Given the description of an element on the screen output the (x, y) to click on. 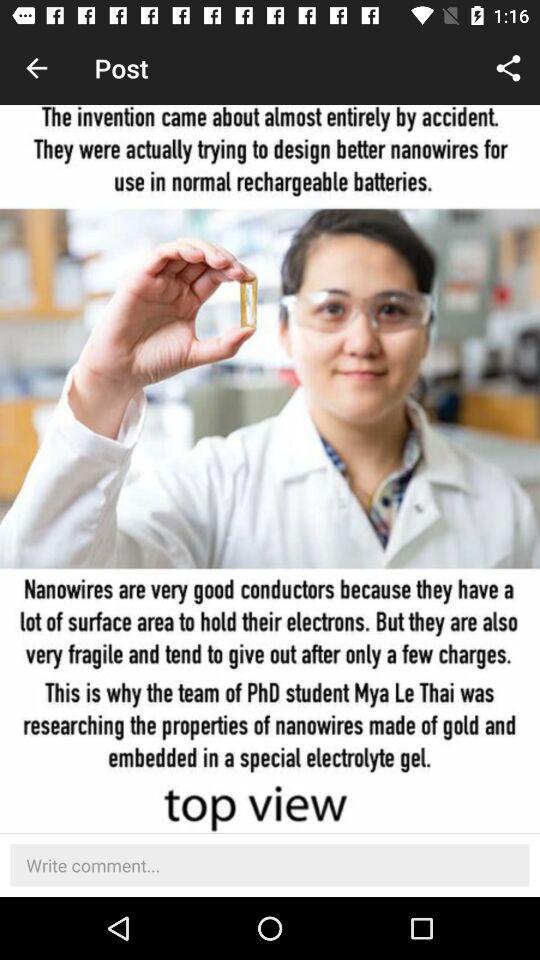
click the icon next to post item (36, 68)
